Given the description of an element on the screen output the (x, y) to click on. 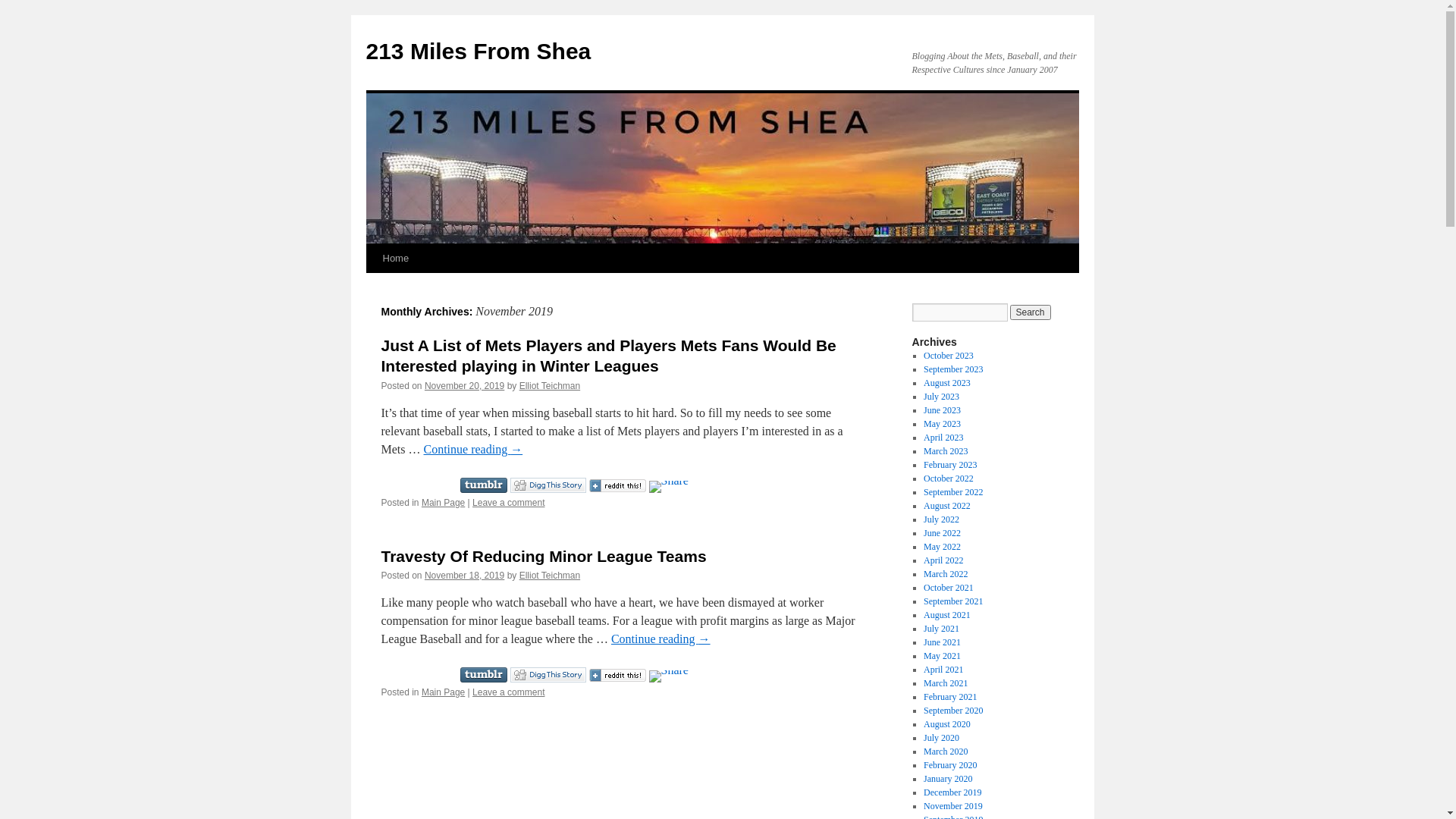
May 2023 Element type: text (941, 423)
March 2022 Element type: text (945, 573)
April 2023 Element type: text (943, 437)
Home Element type: text (395, 258)
September 2021 Element type: text (952, 601)
Submit to reddit Element type: hover (616, 485)
Share on Tumblr Element type: hover (482, 674)
August 2023 Element type: text (946, 382)
July 2023 Element type: text (941, 396)
December 2019 Element type: text (952, 792)
Travesty Of Reducing Minor League Teams Element type: text (543, 555)
June 2021 Element type: text (941, 642)
August 2020 Element type: text (946, 723)
October 2023 Element type: text (948, 355)
January 2020 Element type: text (947, 778)
March 2023 Element type: text (945, 450)
Main Page Element type: text (442, 692)
November 2019 Element type: text (952, 805)
Elliot Teichman Element type: text (549, 575)
Leave a comment Element type: text (508, 502)
September 2020 Element type: text (952, 710)
Submit to reddit Element type: hover (616, 675)
July 2021 Element type: text (941, 628)
September 2023 Element type: text (952, 369)
February 2023 Element type: text (949, 464)
Digg This Element type: hover (547, 484)
September 2022 Element type: text (952, 491)
March 2021 Element type: text (945, 682)
February 2020 Element type: text (949, 764)
Search Element type: text (1030, 312)
August 2022 Element type: text (946, 505)
April 2022 Element type: text (943, 560)
Share on Tumblr Element type: hover (482, 484)
March 2020 Element type: text (945, 751)
October 2022 Element type: text (948, 478)
February 2021 Element type: text (949, 696)
July 2022 Element type: text (941, 519)
May 2022 Element type: text (941, 546)
November 18, 2019 Element type: text (464, 575)
June 2022 Element type: text (941, 532)
April 2021 Element type: text (943, 669)
Leave a comment Element type: text (508, 692)
October 2021 Element type: text (948, 587)
Digg This Element type: hover (547, 674)
August 2021 Element type: text (946, 614)
Main Page Element type: text (442, 502)
June 2023 Element type: text (941, 409)
May 2021 Element type: text (941, 655)
Skip to content Element type: text (372, 287)
213 Miles From Shea Element type: text (477, 50)
Elliot Teichman Element type: text (549, 385)
July 2020 Element type: text (941, 737)
November 20, 2019 Element type: text (464, 385)
